Given the description of an element on the screen output the (x, y) to click on. 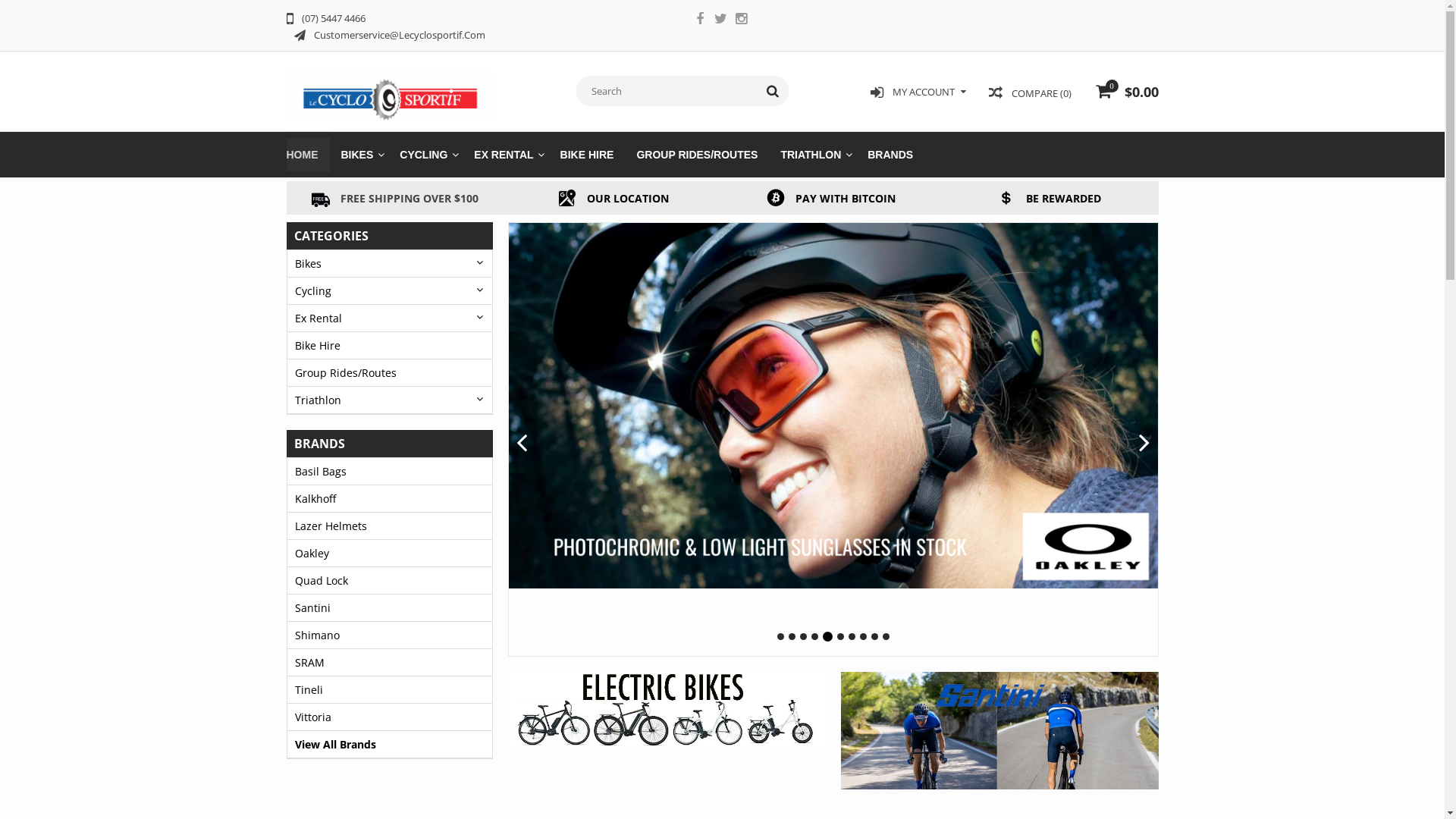
Kalkhoff Element type: text (389, 498)
BIKES Element type: text (358, 154)
Santini Element type: text (389, 607)
Shimano Element type: text (389, 635)
5 Element type: text (828, 636)
Twitter Le CycloSportif Noosa Heads Australia Element type: hover (720, 20)
Time Pedals - Available now  Element type: hover (832, 405)
Next Element type: hover (1143, 443)
10 Element type: text (885, 636)
Bike Hire Element type: text (389, 345)
COMPARE (0) Element type: text (1029, 92)
OUR LOCATION Element type: text (613, 196)
HOME Element type: text (307, 154)
8 Element type: text (862, 636)
Quad Lock Element type: text (389, 580)
Search Element type: hover (772, 90)
Previous Element type: hover (521, 443)
BE REWARDED Element type: text (1049, 196)
Tineli Element type: text (389, 689)
Ex Rental Element type: text (389, 318)
Vittoria Element type: text (389, 717)
Bikes Element type: text (389, 263)
Instagram Le CycloSportif Noosa Heads Australia Element type: hover (740, 20)
Customerservice@Lecyclosportif.Com Element type: text (389, 33)
Oakley Element type: text (389, 553)
Basil Bags Element type: text (389, 471)
BRANDS Element type: text (890, 154)
3 Element type: text (806, 636)
MY ACCOUNT Element type: text (918, 92)
CYCLING Element type: text (425, 154)
7 Element type: text (851, 636)
(07) 5447 4466 Element type: text (325, 17)
BIKE HIRE Element type: text (587, 154)
4 Element type: text (817, 636)
View All Brands Element type: text (389, 744)
Lazer Helmets Element type: text (389, 525)
Facebook Le CycloSportif Noosa Heads Australia Element type: hover (699, 20)
PAY WITH BITCOIN Element type: text (830, 196)
GROUP RIDES/ROUTES Element type: text (696, 154)
TRIATHLON Element type: text (812, 154)
6 Element type: text (840, 636)
SRAM Element type: text (389, 662)
EX RENTAL Element type: text (505, 154)
1 Element type: text (782, 636)
9 Element type: text (874, 636)
Cycling Element type: text (389, 290)
2 Element type: text (794, 636)
0
$0.00 Element type: text (1125, 93)
Group Rides/Routes Element type: text (389, 372)
Triathlon Element type: text (389, 400)
